Given the description of an element on the screen output the (x, y) to click on. 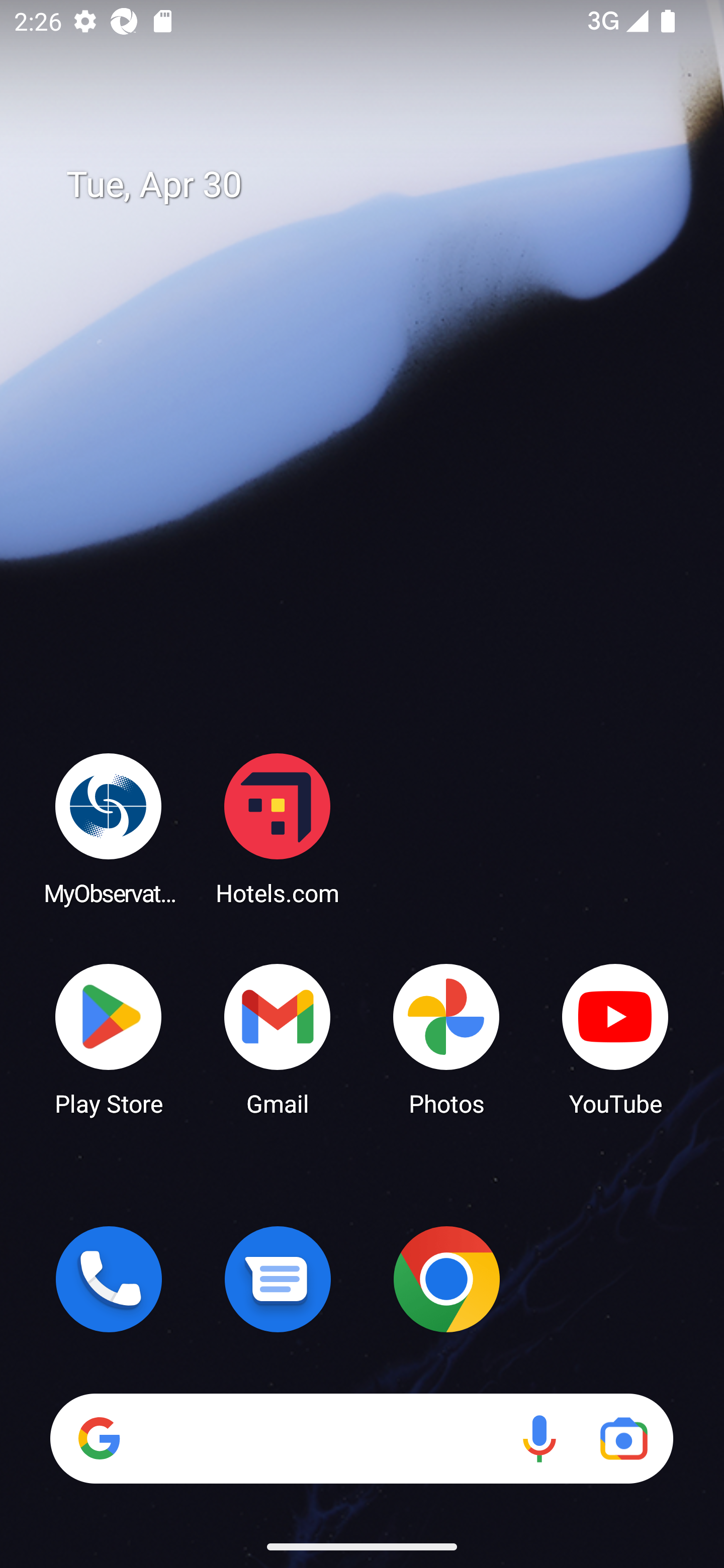
Tue, Apr 30 (375, 184)
MyObservatory (108, 828)
Hotels.com (277, 828)
Play Store (108, 1038)
Gmail (277, 1038)
Photos (445, 1038)
YouTube (615, 1038)
Phone (108, 1279)
Messages (277, 1279)
Chrome (446, 1279)
Search Voice search Google Lens (361, 1438)
Voice search (539, 1438)
Google Lens (623, 1438)
